Given the description of an element on the screen output the (x, y) to click on. 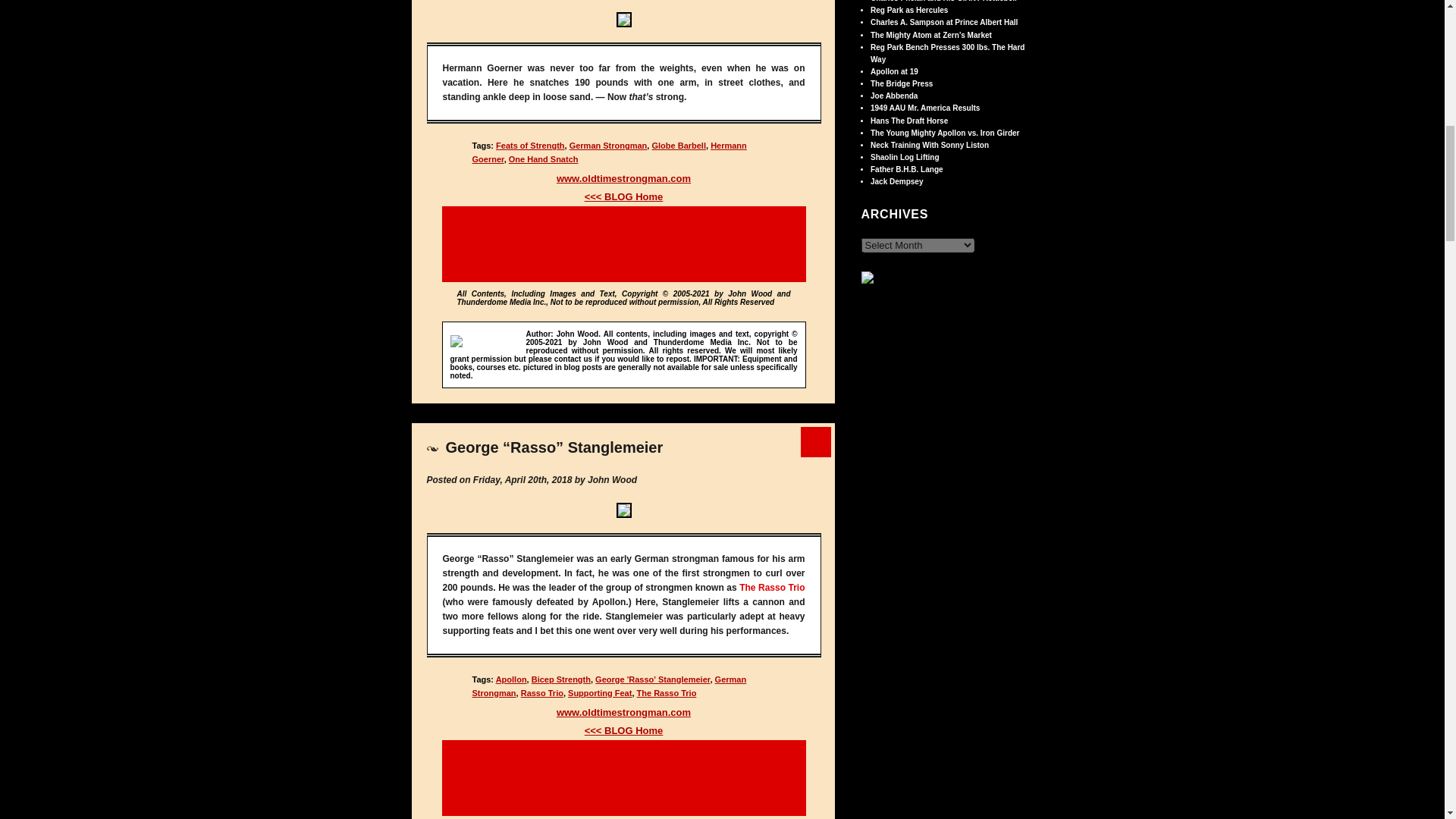
Charles Phelan and His GIANT Kettlebell (943, 1)
Reg Park Bench Presses 300 lbs. The Hard Way (947, 53)
Reg Park as Hercules (908, 9)
Hans The Draft Horse (908, 121)
The Young Mighty Apollon vs. Iron Girder (944, 132)
Joe Abbenda (893, 95)
Charles A. Sampson at Prince Albert Hall (943, 22)
Father B.H.B. Lange (906, 169)
Neck Training With Sonny Liston (929, 144)
Apollon at 19 (894, 71)
1949 AAU Mr. America Results (924, 108)
The Bridge Press (901, 83)
Shaolin Log Lifting (904, 157)
